Given the description of an element on the screen output the (x, y) to click on. 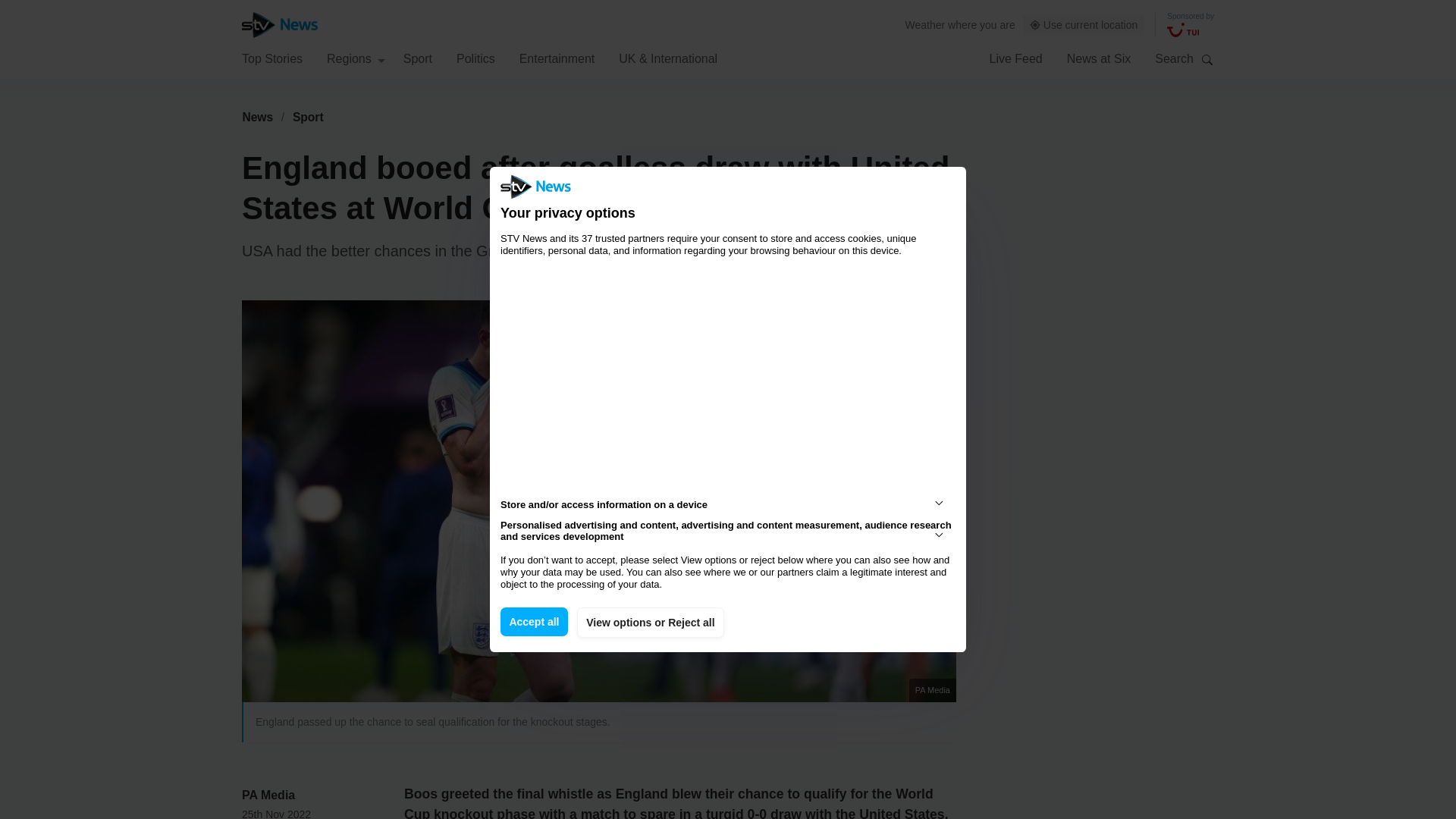
Politics (476, 57)
Weather (924, 24)
Play Video (606, 507)
Top Stories (271, 57)
News at Six (1099, 57)
Use current location (1083, 25)
Regions (355, 57)
Search (1206, 59)
Entertainment (557, 57)
News (257, 116)
Sport (308, 116)
Live Feed (1015, 57)
